Given the description of an element on the screen output the (x, y) to click on. 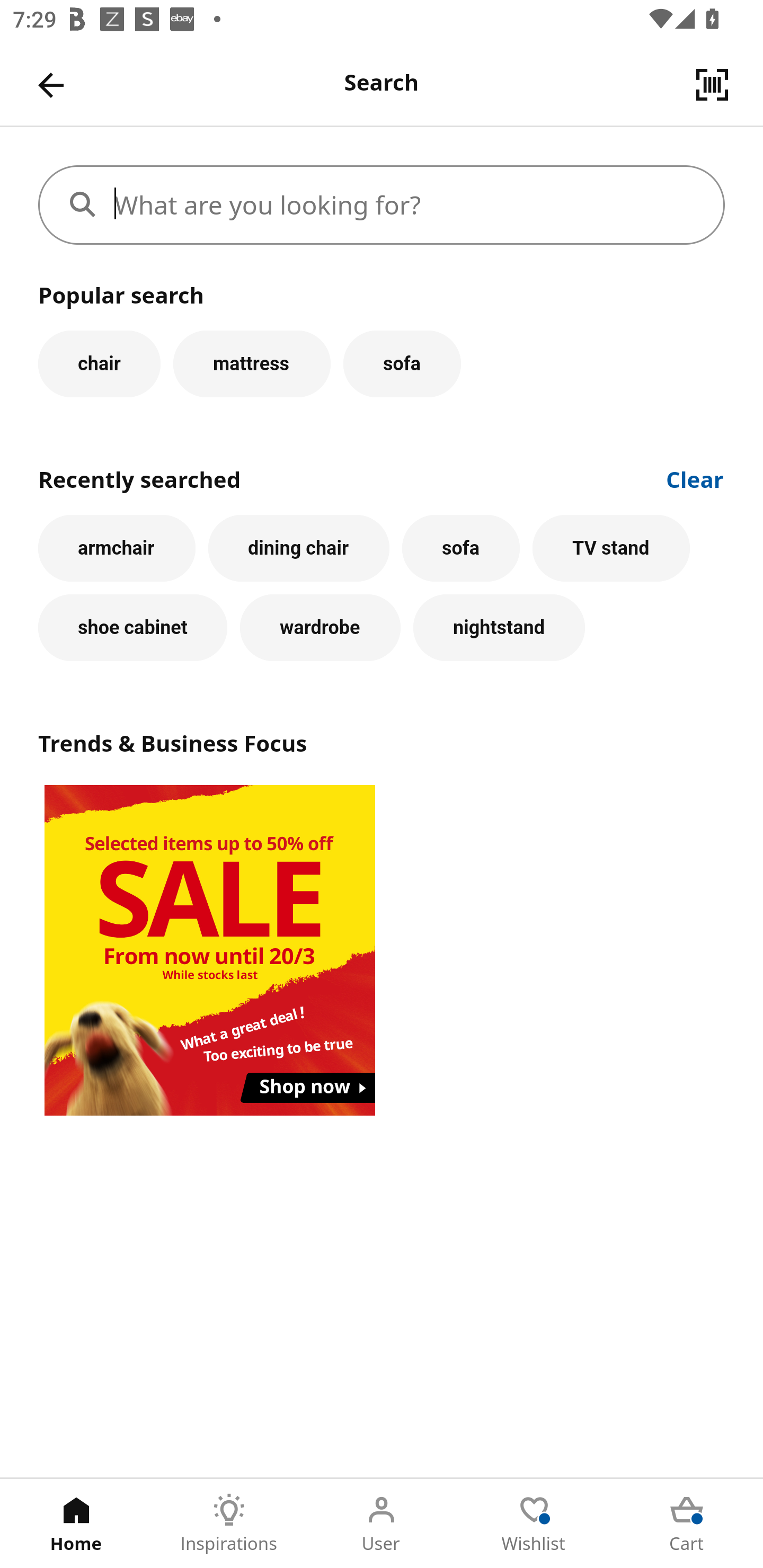
chair (99, 363)
mattress (251, 363)
sofa (401, 363)
Clear (695, 477)
armchair (116, 547)
dining chair (298, 547)
sofa (460, 547)
TV stand (610, 547)
shoe cabinet (132, 627)
wardrobe (320, 627)
nightstand (499, 627)
Home
Tab 1 of 5 (76, 1522)
Inspirations
Tab 2 of 5 (228, 1522)
User
Tab 3 of 5 (381, 1522)
Wishlist
Tab 4 of 5 (533, 1522)
Cart
Tab 5 of 5 (686, 1522)
